Given the description of an element on the screen output the (x, y) to click on. 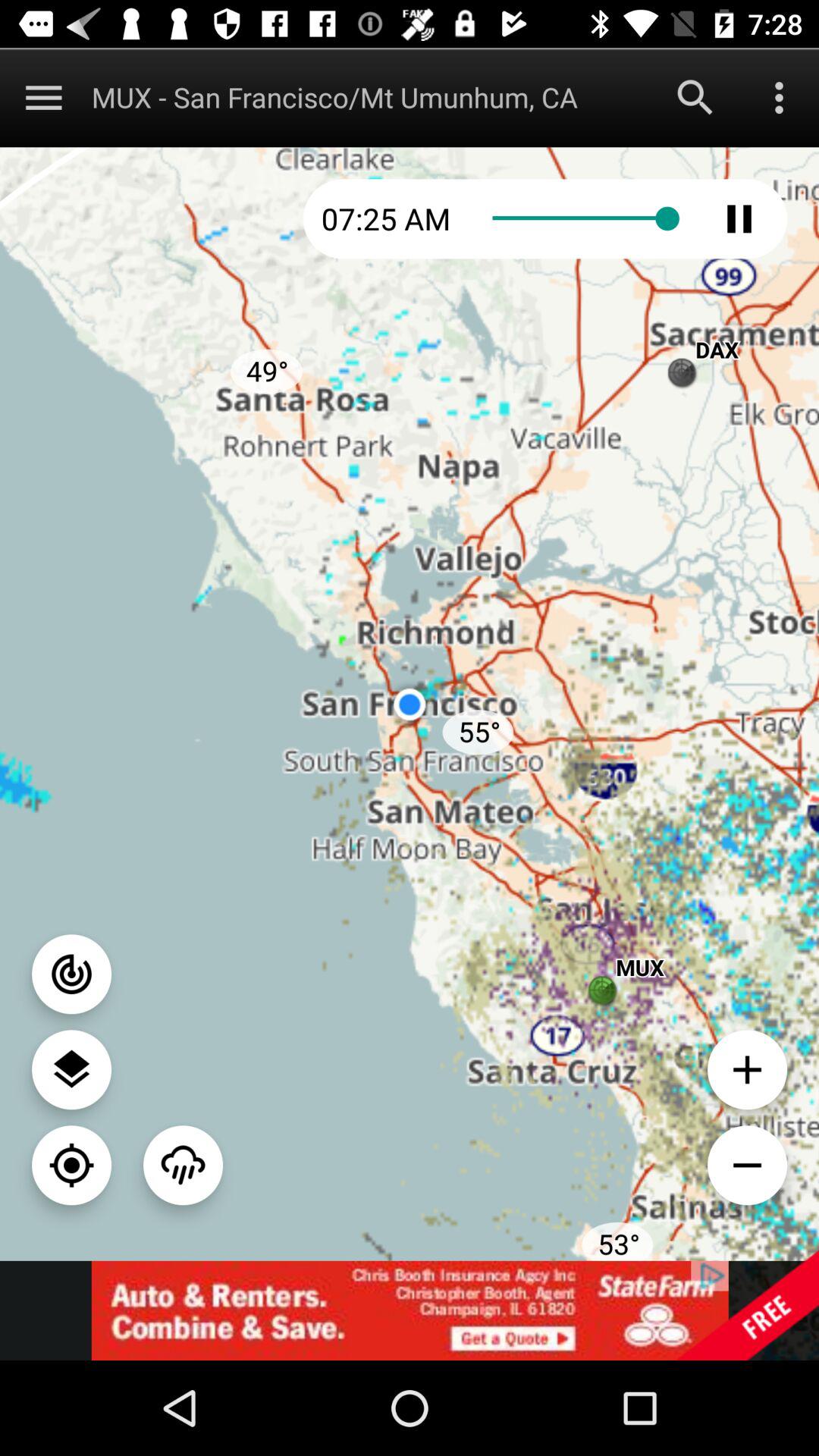
initiate search (695, 97)
